Given the description of an element on the screen output the (x, y) to click on. 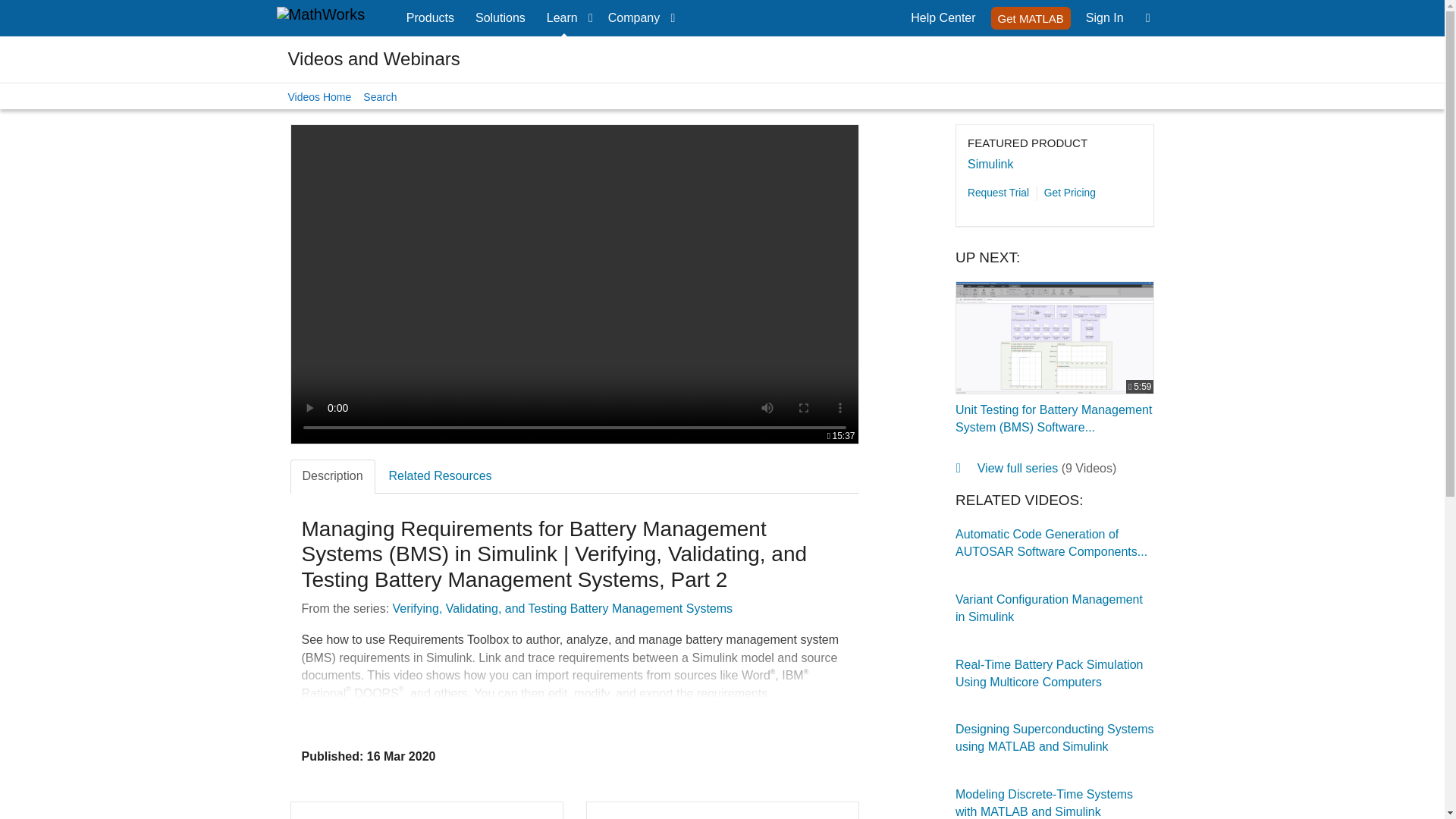
Learn (566, 18)
Solutions (499, 18)
Get MATLAB (1104, 18)
Help Center (1030, 17)
Products (942, 18)
Sign In to Your MathWorks Account (430, 18)
Company (1104, 18)
